Given the description of an element on the screen output the (x, y) to click on. 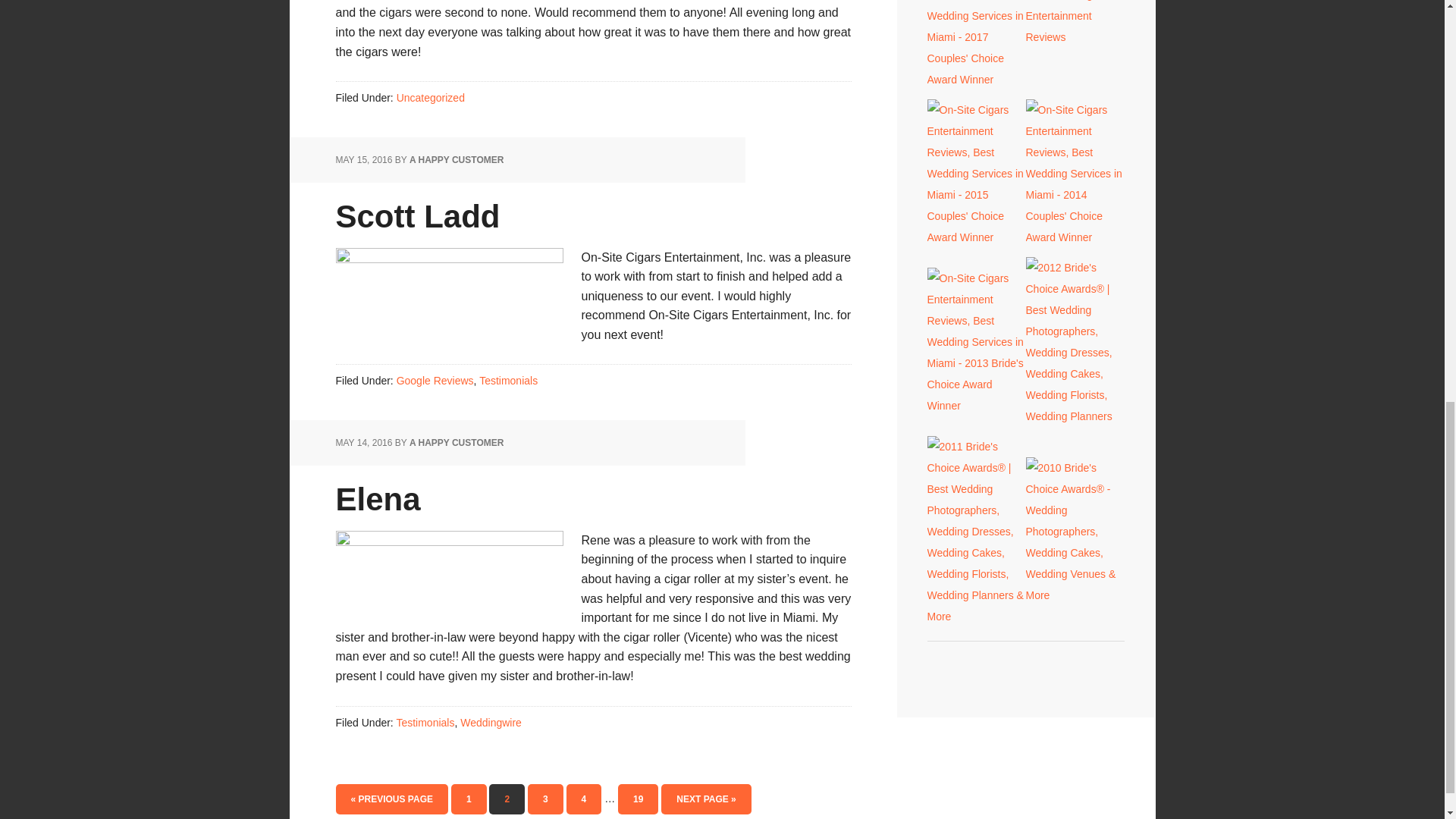
On-Site Cigars Entertainment Reviews (1074, 37)
